Given the description of an element on the screen output the (x, y) to click on. 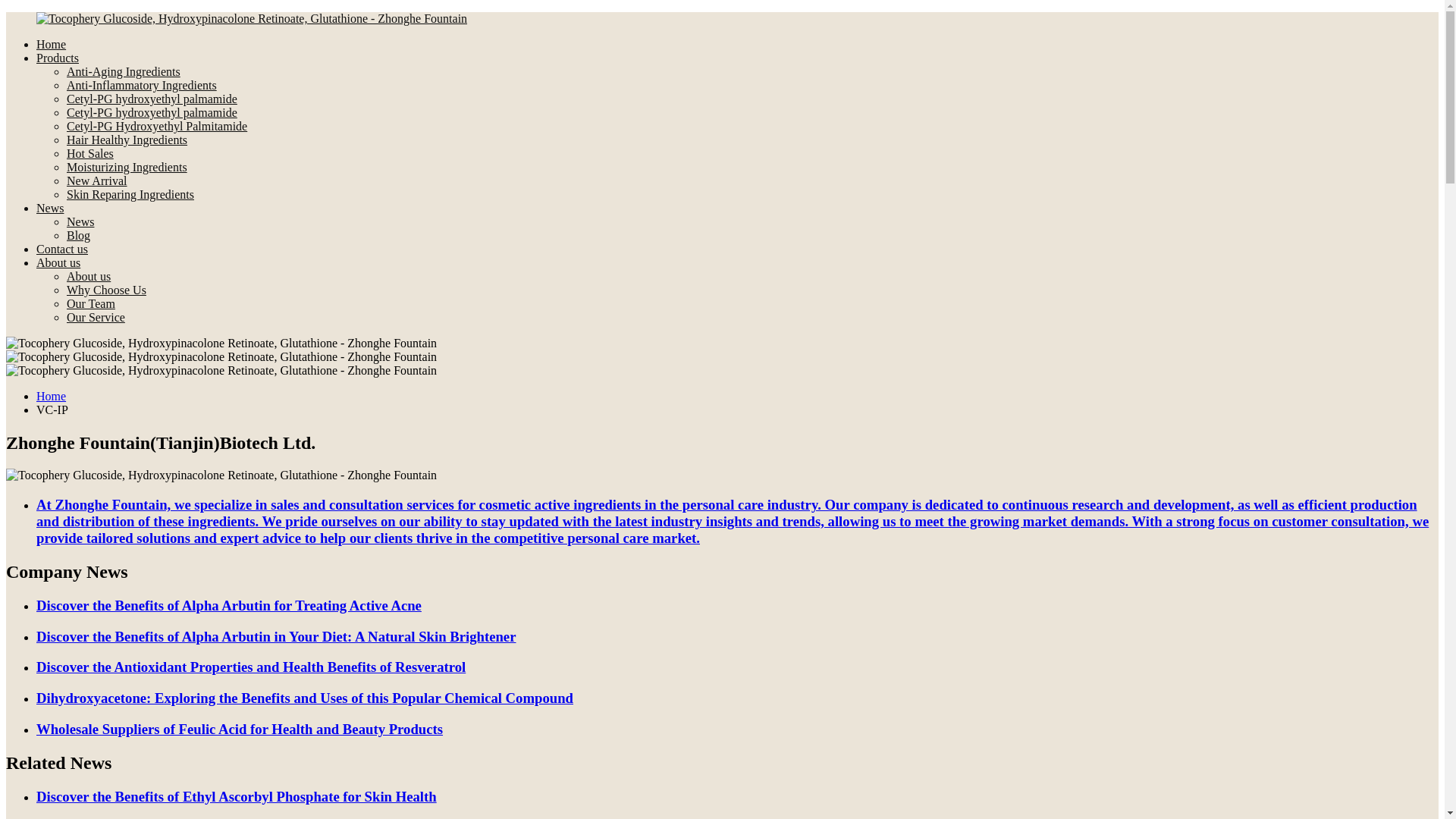
About us (58, 262)
Skin Reparing Ingredients (129, 194)
About us (88, 276)
Cetyl-PG hydroxyethyl palmamide (151, 112)
Our Service (95, 317)
Hair Healthy Ingredients (126, 139)
Blog (78, 235)
Moisturizing Ingredients (126, 166)
Products (57, 57)
News (80, 221)
